Given the description of an element on the screen output the (x, y) to click on. 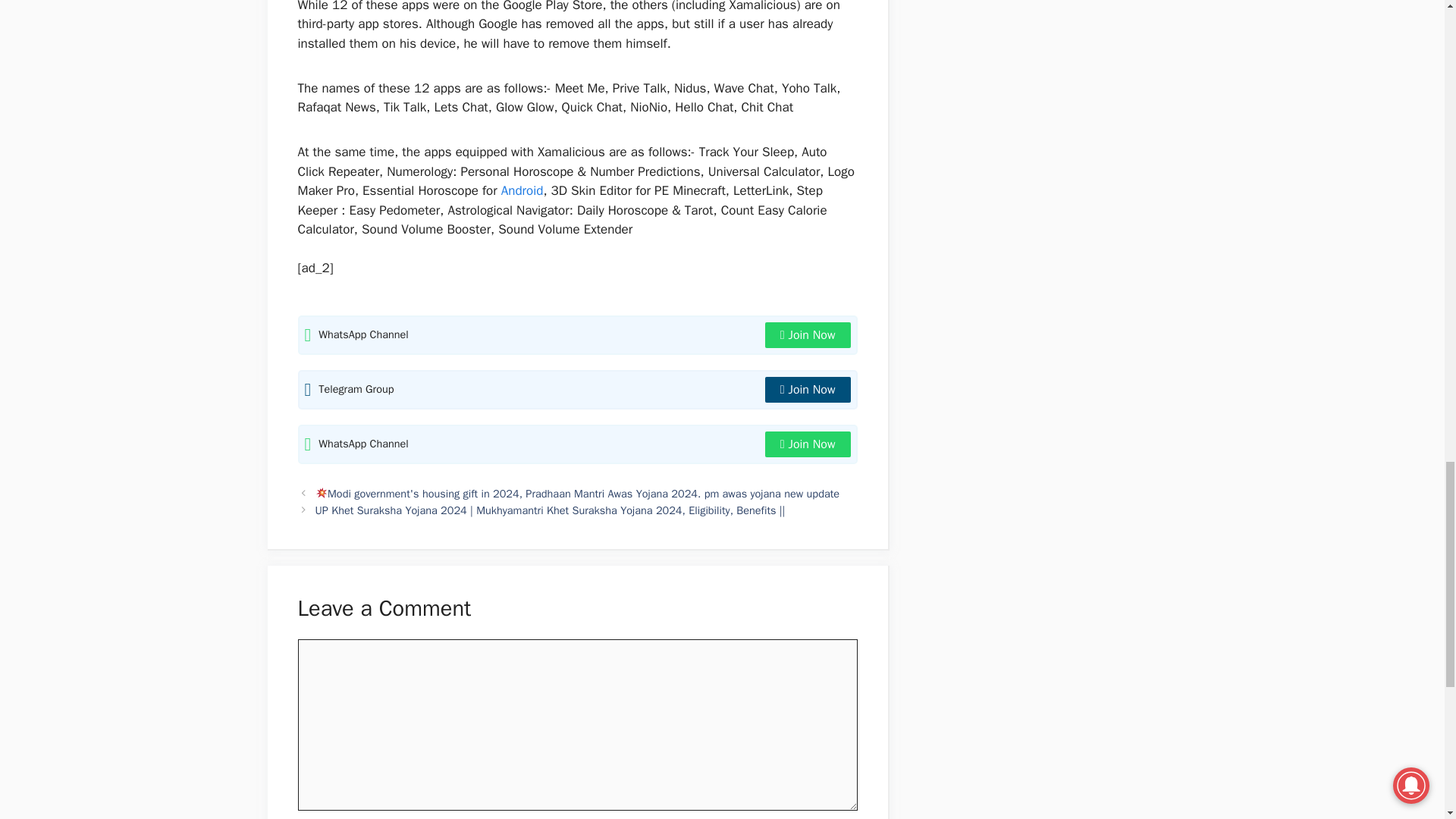
Android (521, 190)
Join Now (807, 444)
Join Now (807, 389)
Join Now (807, 335)
